Given the description of an element on the screen output the (x, y) to click on. 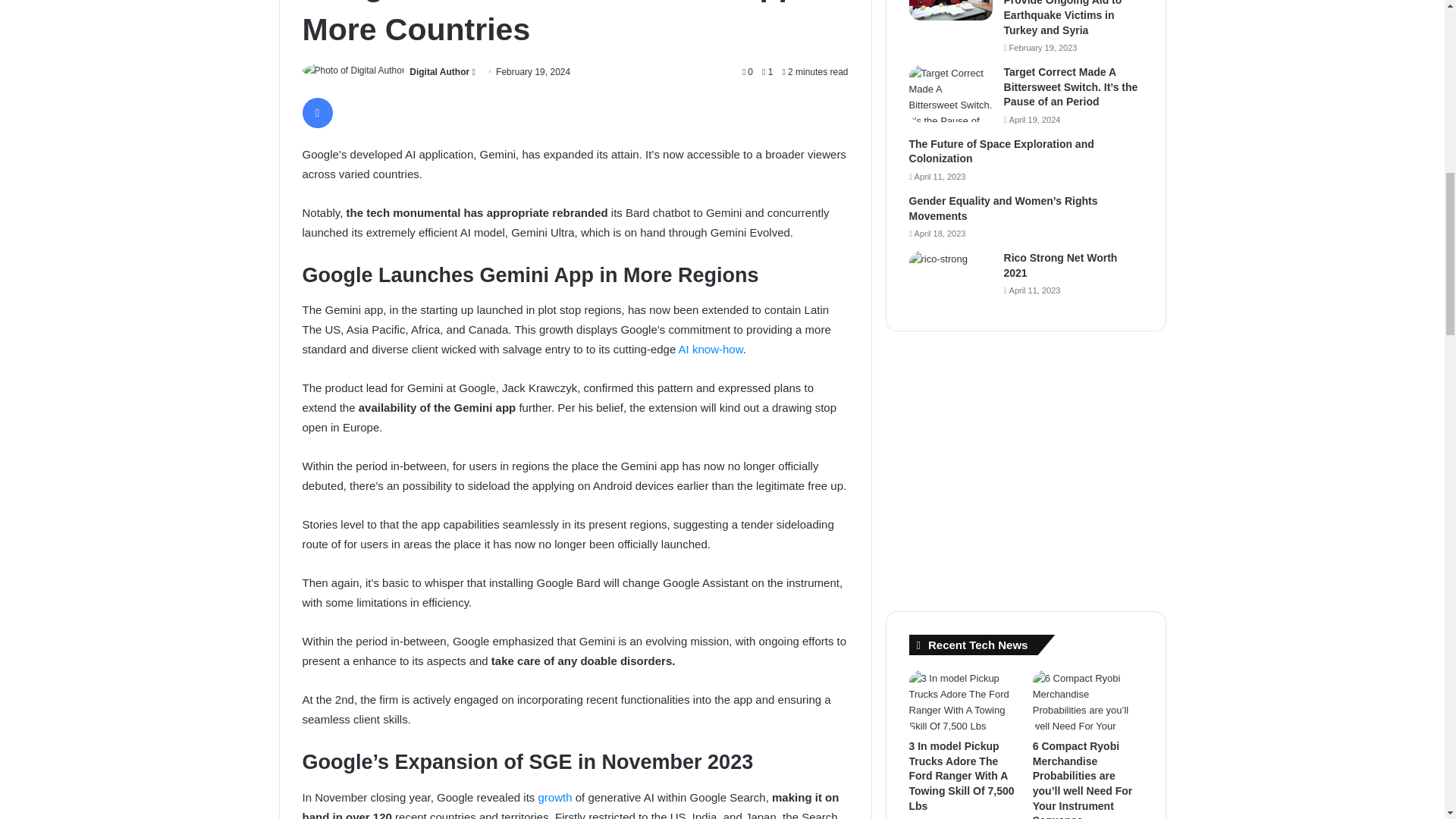
Facebook (316, 112)
Digital Author (438, 71)
growth (555, 797)
AI know-how (710, 349)
Facebook (316, 112)
Digital Author (438, 71)
